Given the description of an element on the screen output the (x, y) to click on. 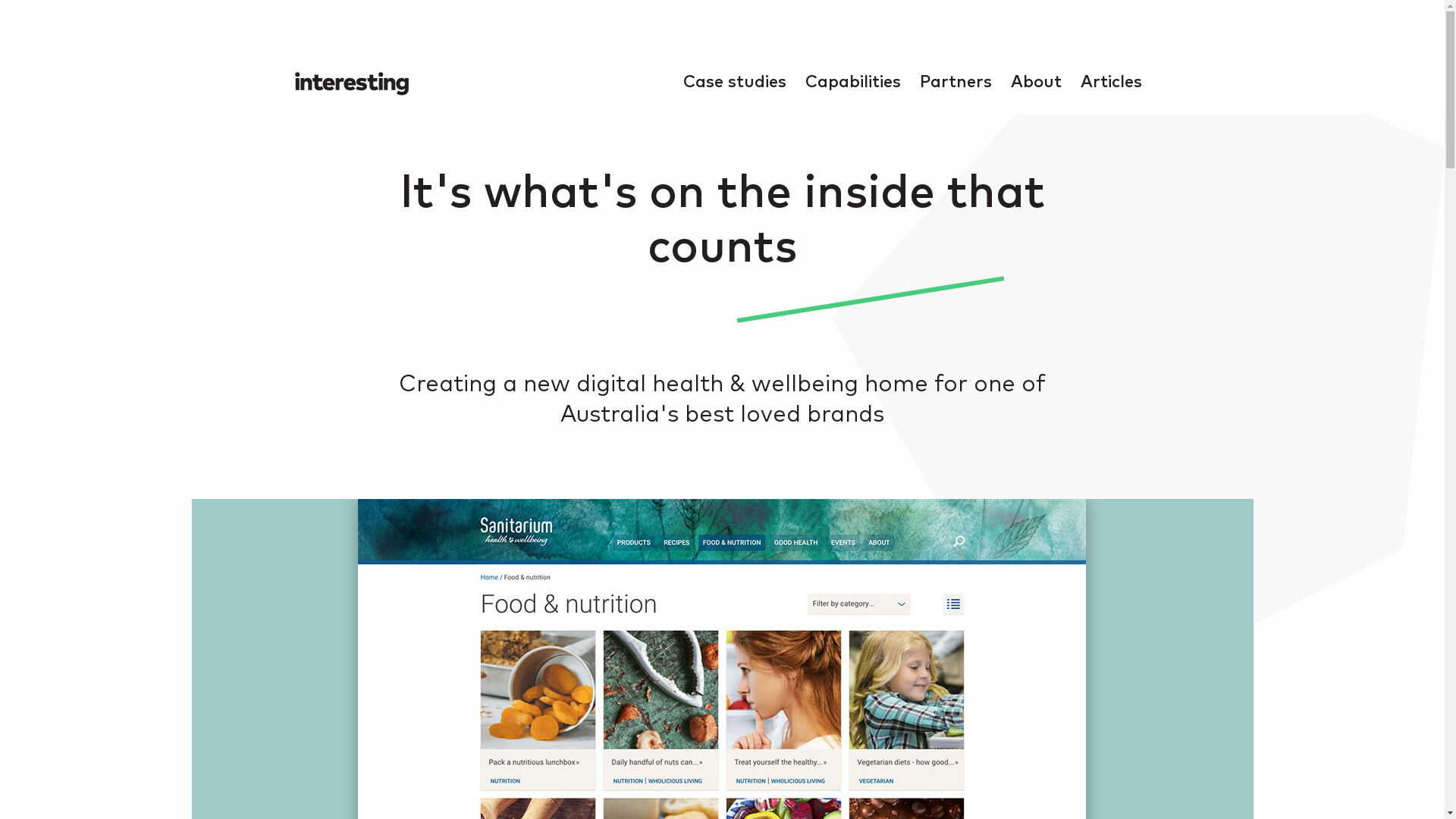
Capabilities Element type: text (852, 82)
About Element type: text (1035, 82)
Case studies Element type: text (734, 82)
Articles Element type: text (1111, 82)
Partners Element type: text (955, 82)
